Given the description of an element on the screen output the (x, y) to click on. 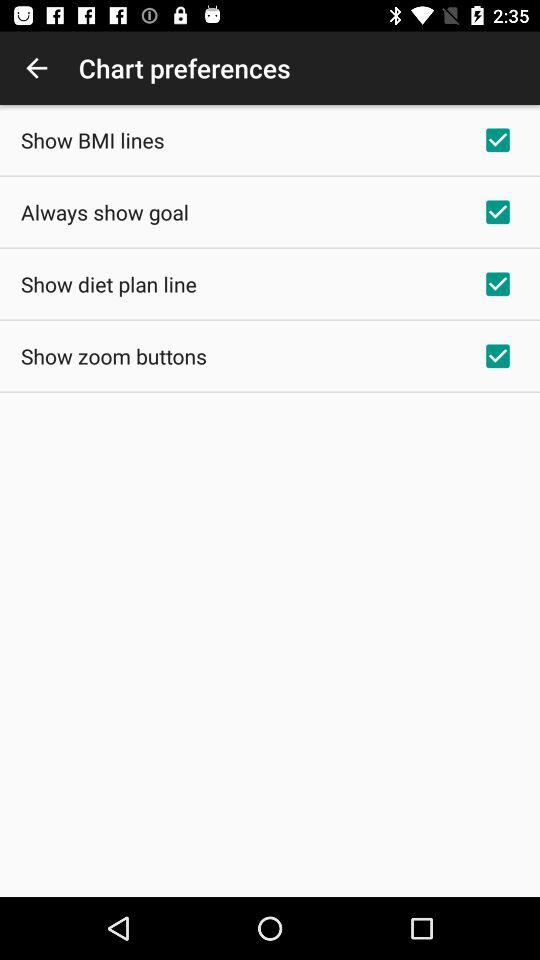
turn on the item next to the chart preferences icon (36, 68)
